Given the description of an element on the screen output the (x, y) to click on. 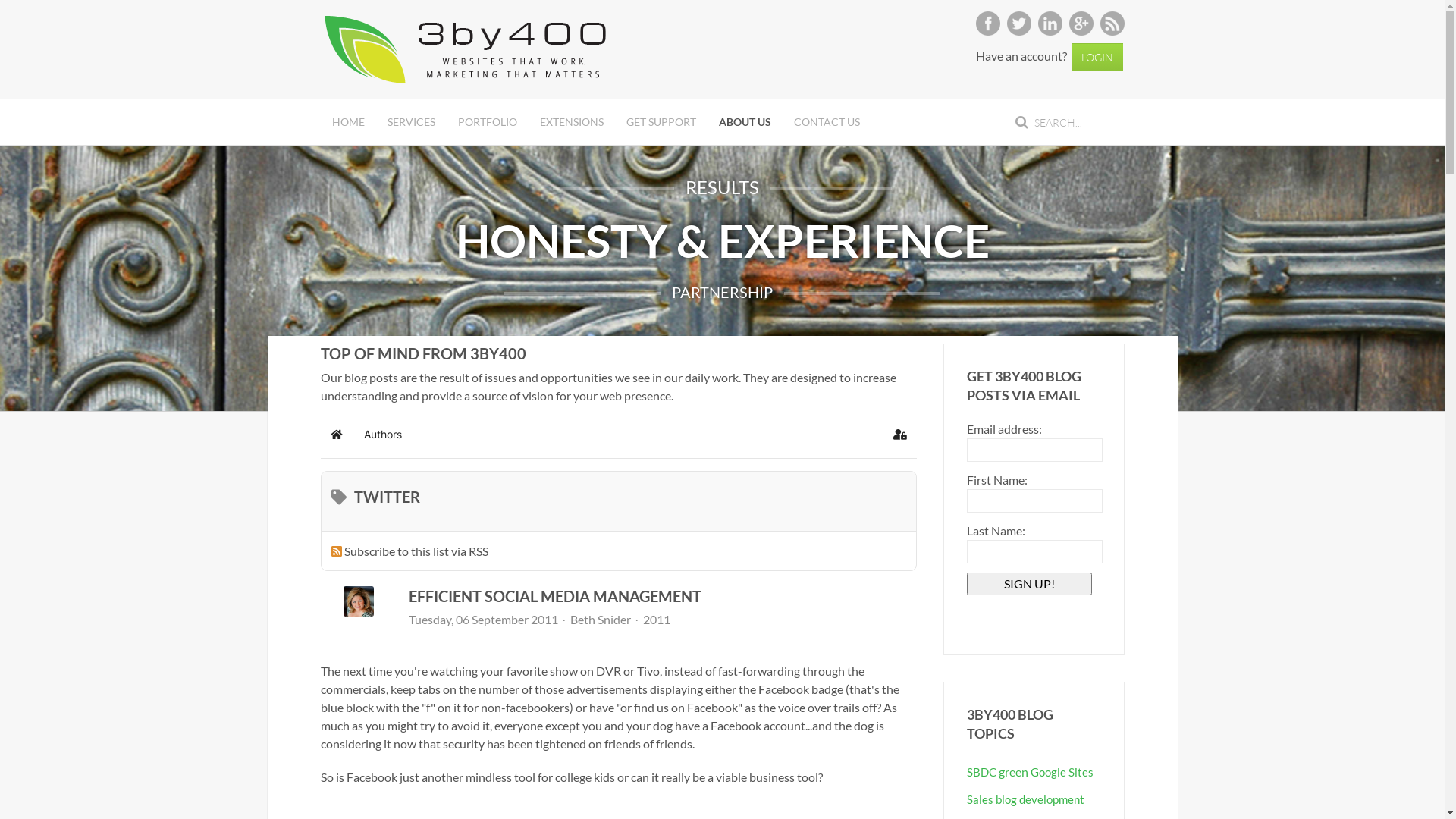
Sign In Element type: text (899, 434)
ABOUT US Element type: text (743, 121)
SBDC Element type: text (981, 771)
TWITTER Element type: text (379, 505)
green Element type: text (1013, 771)
development Element type: text (1051, 799)
Google Sites Element type: text (1061, 771)
PORTFOLIO Element type: text (486, 121)
EFFICIENT SOCIAL MEDIA MANAGEMENT Element type: text (553, 595)
2011 Element type: text (656, 619)
blog Element type: text (1005, 799)
Beth Snider Element type: text (600, 618)
CONTACT US Element type: text (826, 121)
EXTENSIONS Element type: text (570, 121)
HOME Element type: text (347, 121)
Authors Element type: text (382, 434)
Subscribe to this list via RSS Element type: text (416, 550)
Sales Element type: text (979, 799)
LOGIN Element type: text (1096, 57)
GET SUPPORT Element type: text (660, 121)
SIGN UP! Element type: text (1029, 583)
SERVICES Element type: text (411, 121)
Home Element type: text (335, 434)
